Given the description of an element on the screen output the (x, y) to click on. 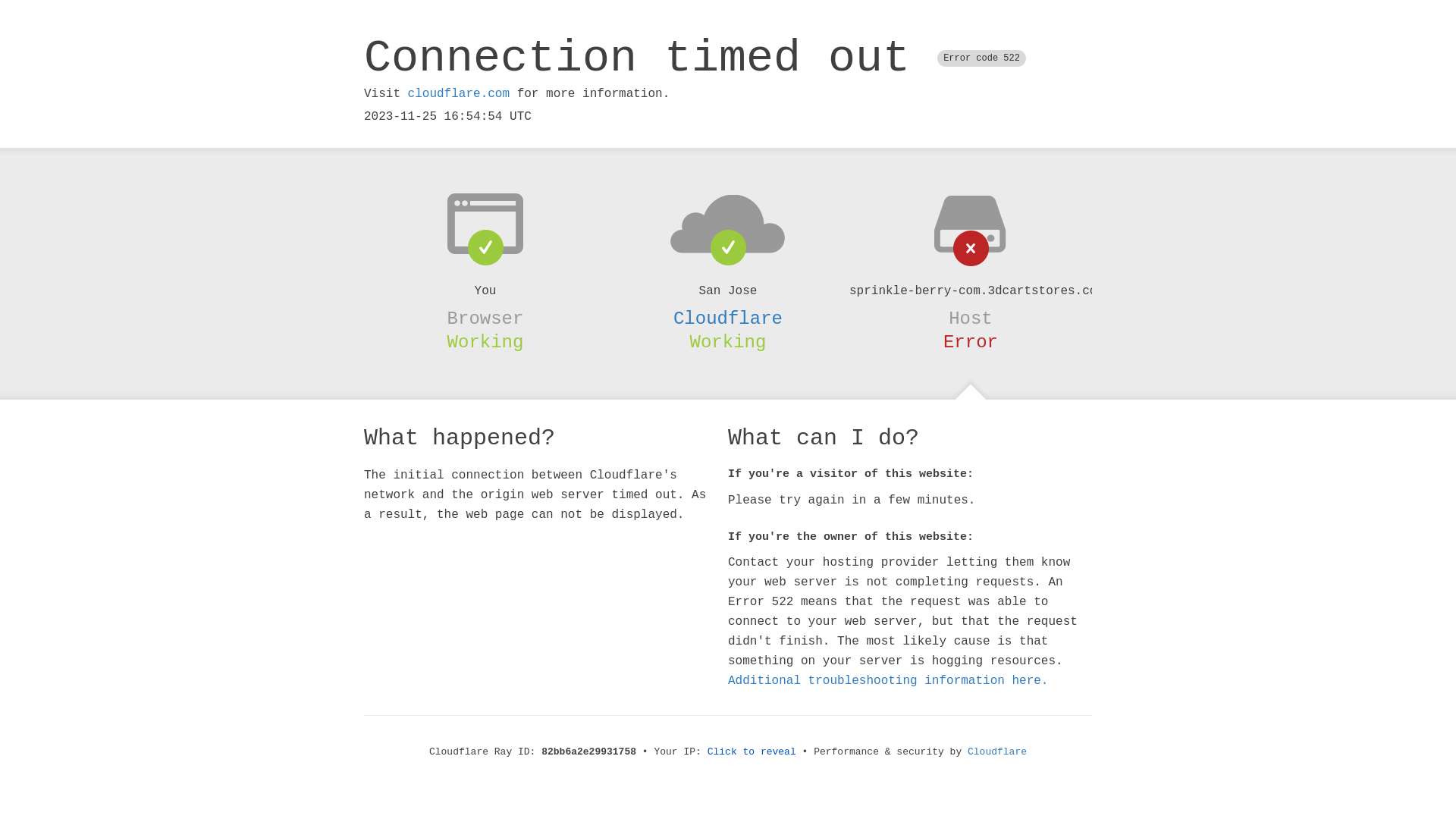
Additional troubleshooting information here. Element type: text (888, 680)
Click to reveal Element type: text (751, 751)
cloudflare.com Element type: text (458, 93)
Cloudflare Element type: text (727, 318)
Cloudflare Element type: text (996, 751)
